Given the description of an element on the screen output the (x, y) to click on. 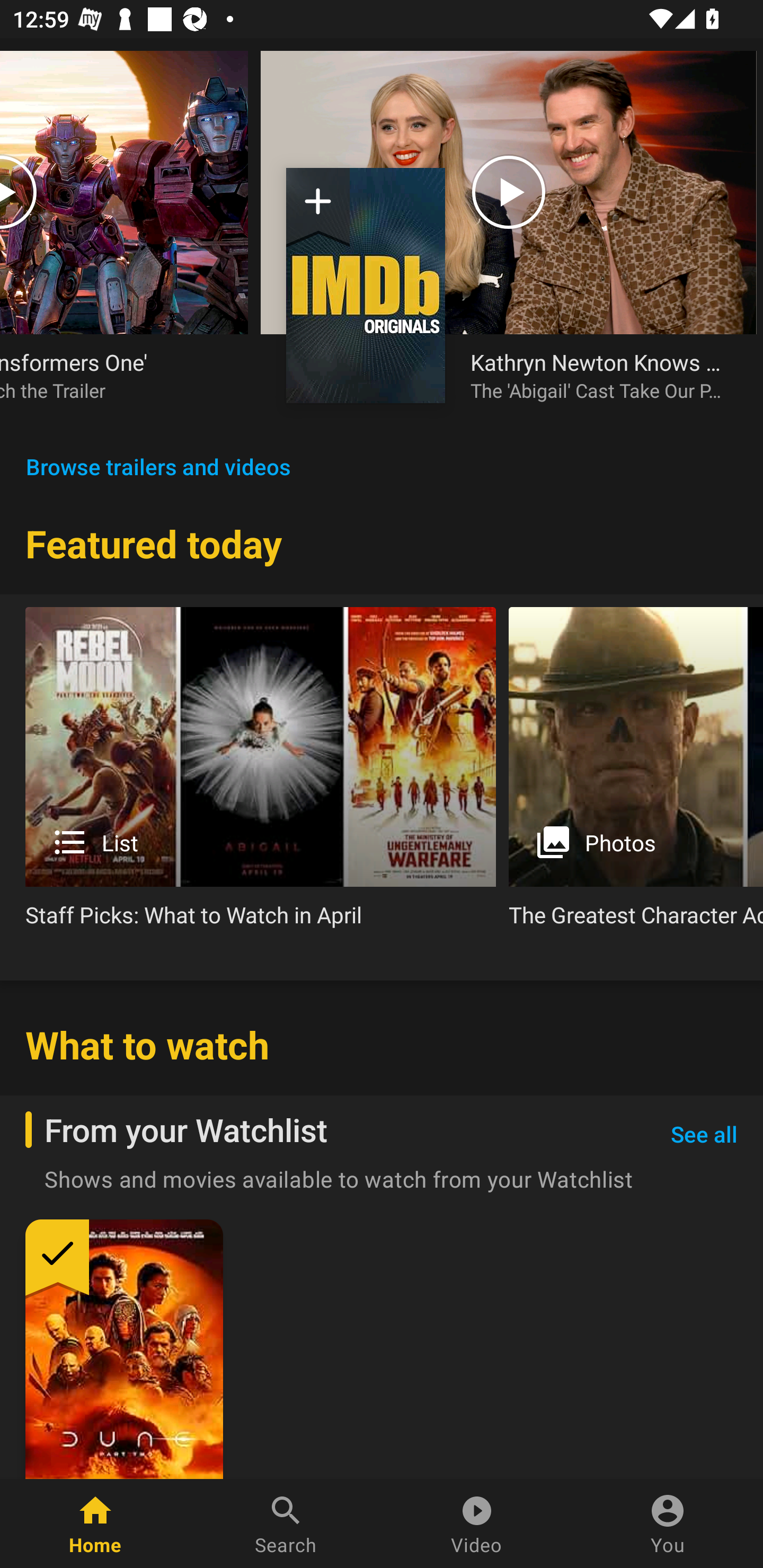
Not in watchlist (365, 284)
Not in watchlist (317, 207)
List Staff Picks: What to Watch in April (260, 774)
Photos The Greatest Character Actors of All Time (635, 774)
See all See all From your Watchlist (703, 1134)
Search (285, 1523)
Video (476, 1523)
You (667, 1523)
